Given the description of an element on the screen output the (x, y) to click on. 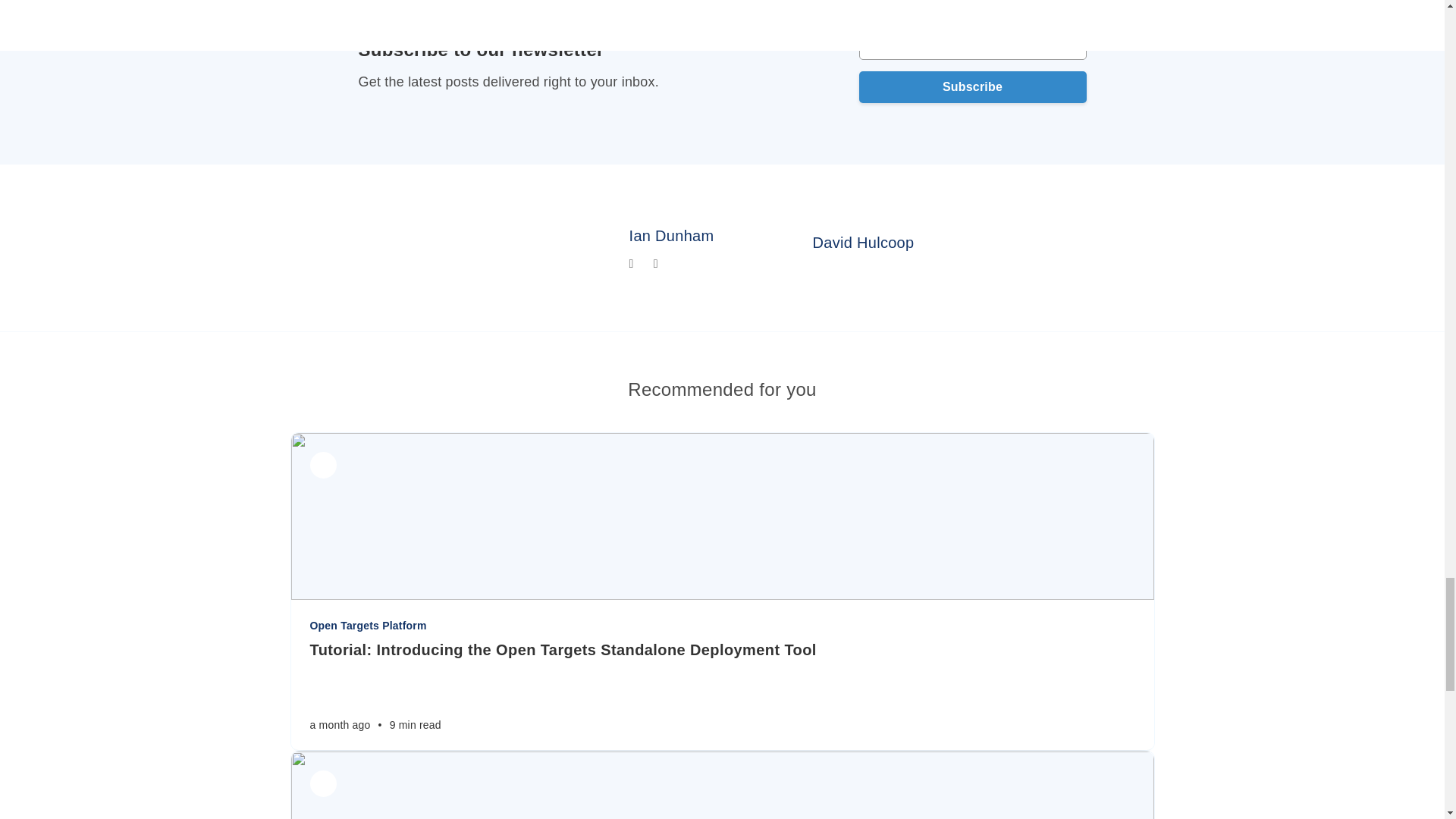
Ian Dunham (671, 235)
David Hulcoop (863, 242)
Subscribe (972, 87)
